Given the description of an element on the screen output the (x, y) to click on. 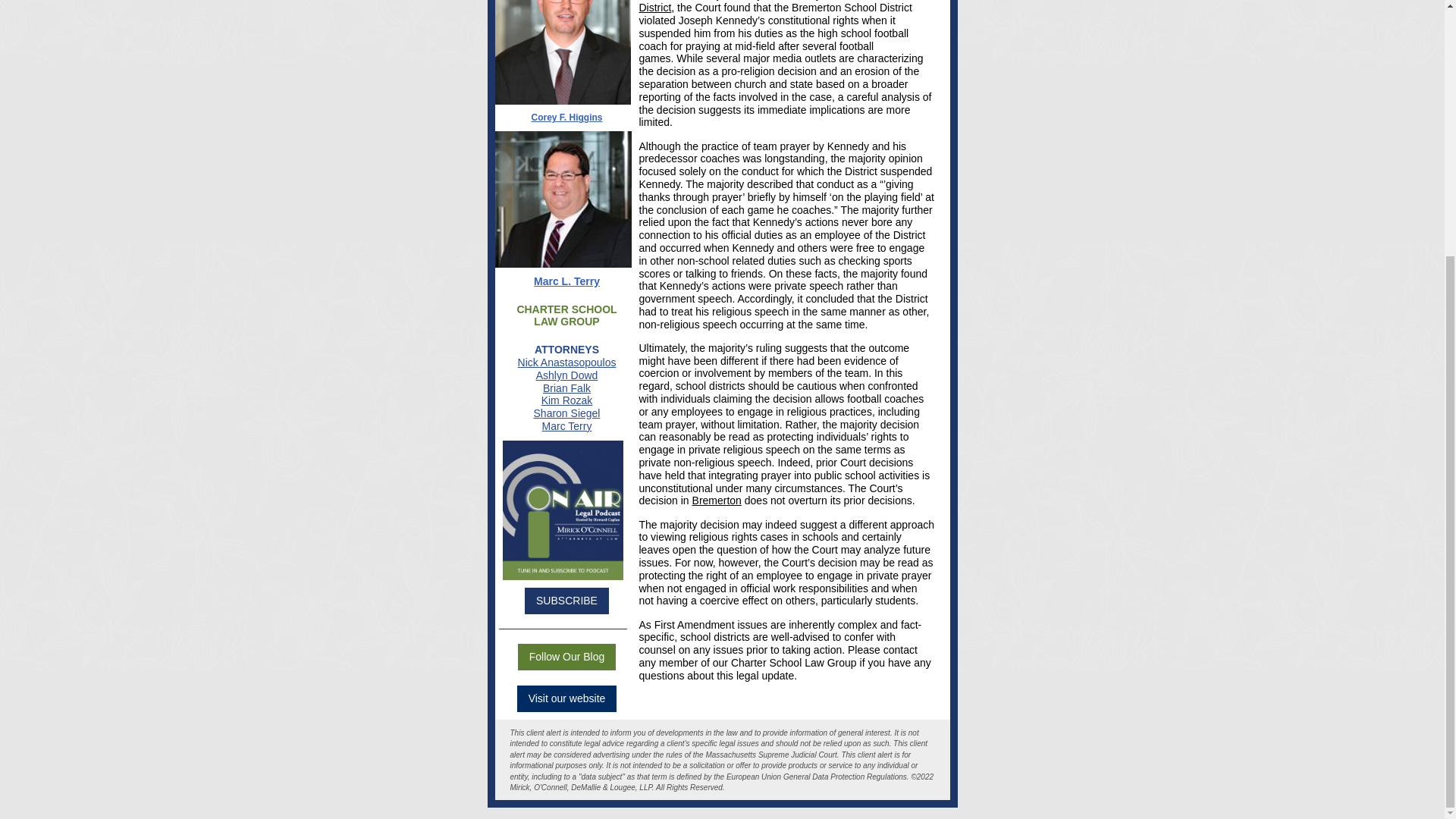
Marc L. Terry (566, 281)
Kim Rozak (566, 399)
Marc Terry (566, 426)
Brian Falk (567, 387)
Nick Anastasopoulos (566, 362)
Ashlyn Dowd (566, 375)
Sharon Siegel (566, 413)
Follow Our Blog (567, 656)
Visit our website (566, 698)
Corey F. Higgins (566, 117)
SUBSCRIBE (565, 600)
